Given the description of an element on the screen output the (x, y) to click on. 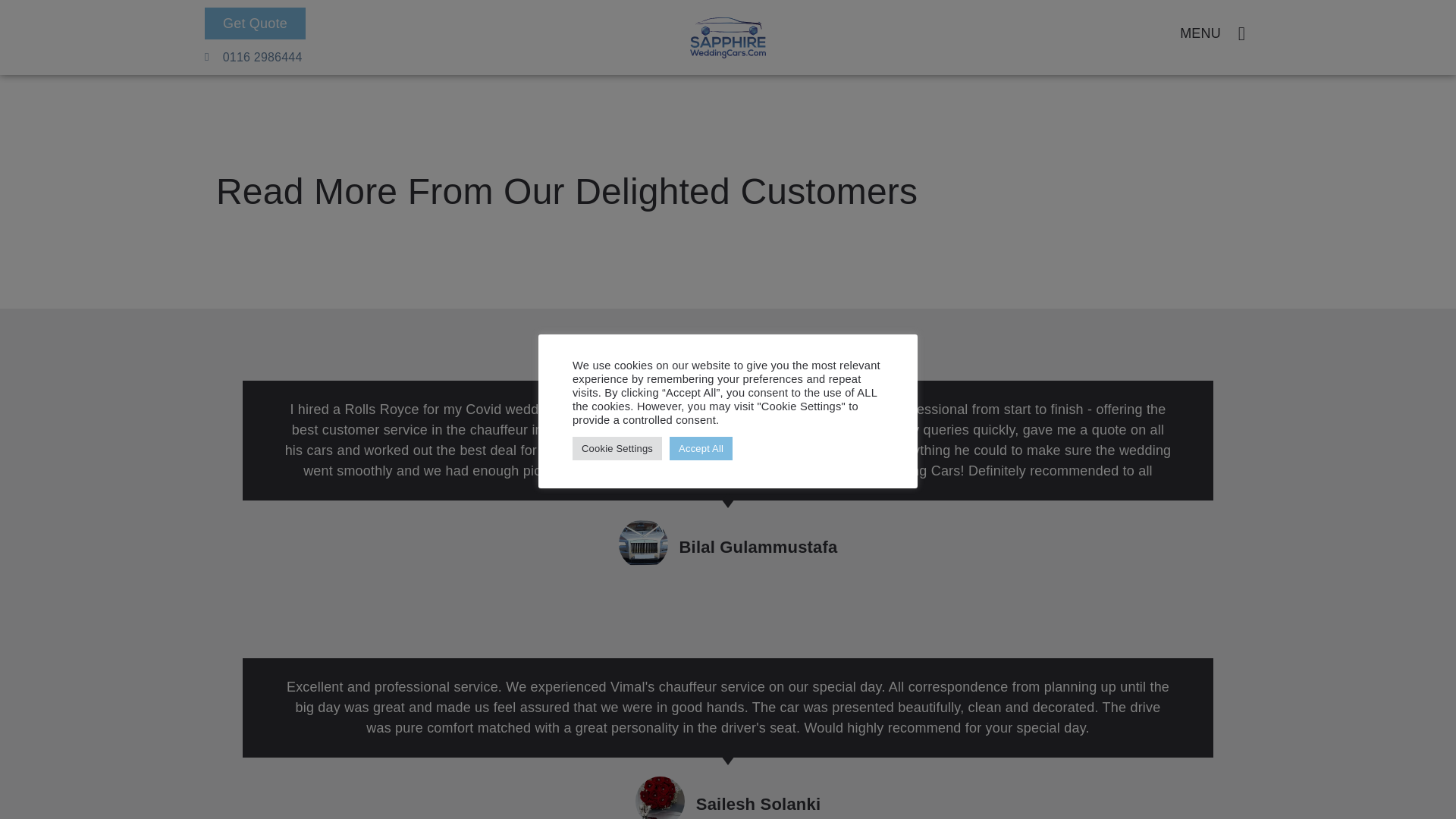
MENU (1200, 32)
Get Quote (255, 23)
0116 2986444 (253, 56)
